Given the description of an element on the screen output the (x, y) to click on. 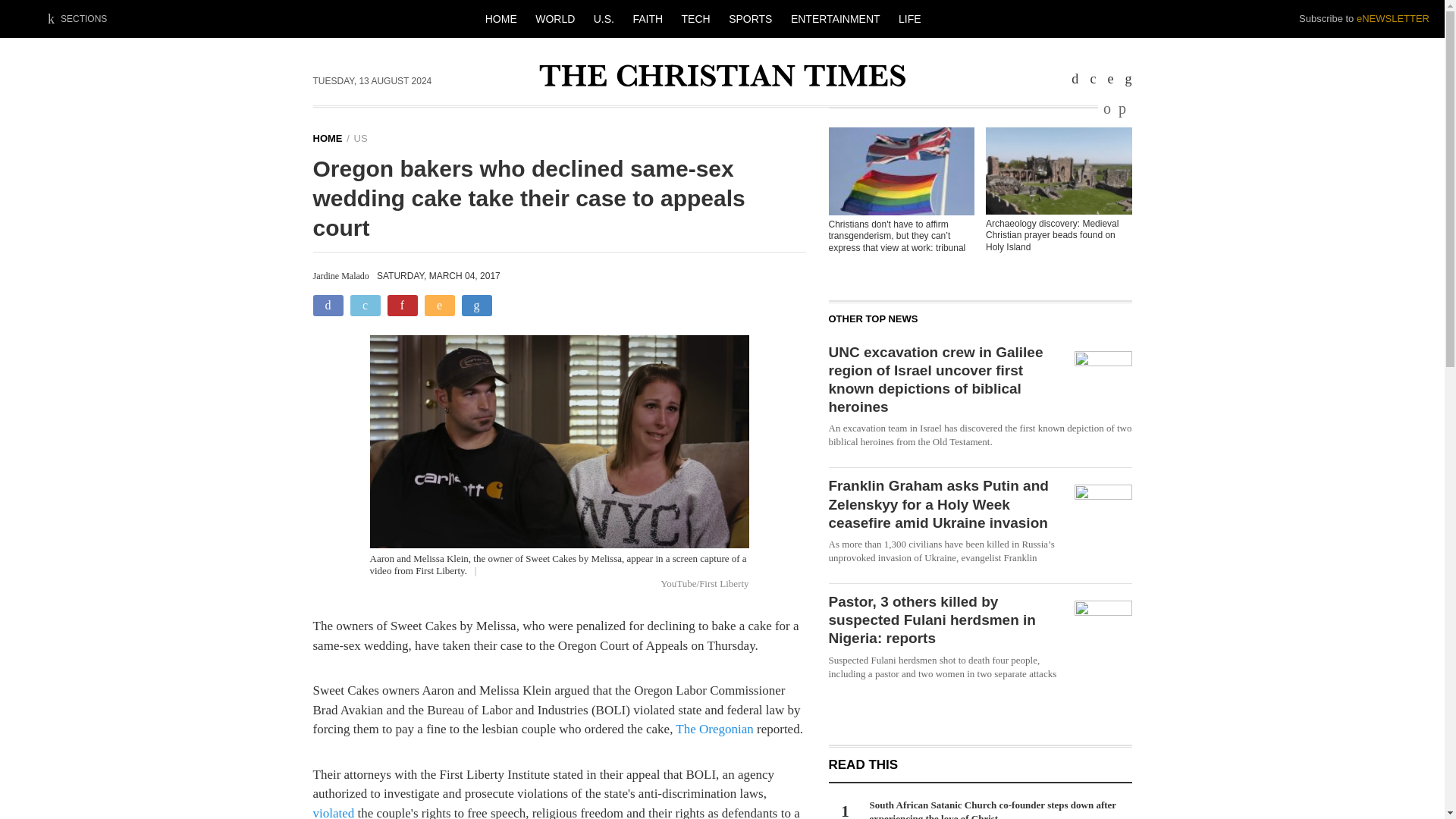
HOME (500, 18)
eNEWSLETTER (1392, 18)
FAITH (646, 18)
The Oregonian (713, 728)
Jardine Malado (340, 276)
WORLD (554, 18)
violated (333, 812)
U.S. (603, 18)
SPORTS (749, 18)
